Given the description of an element on the screen output the (x, y) to click on. 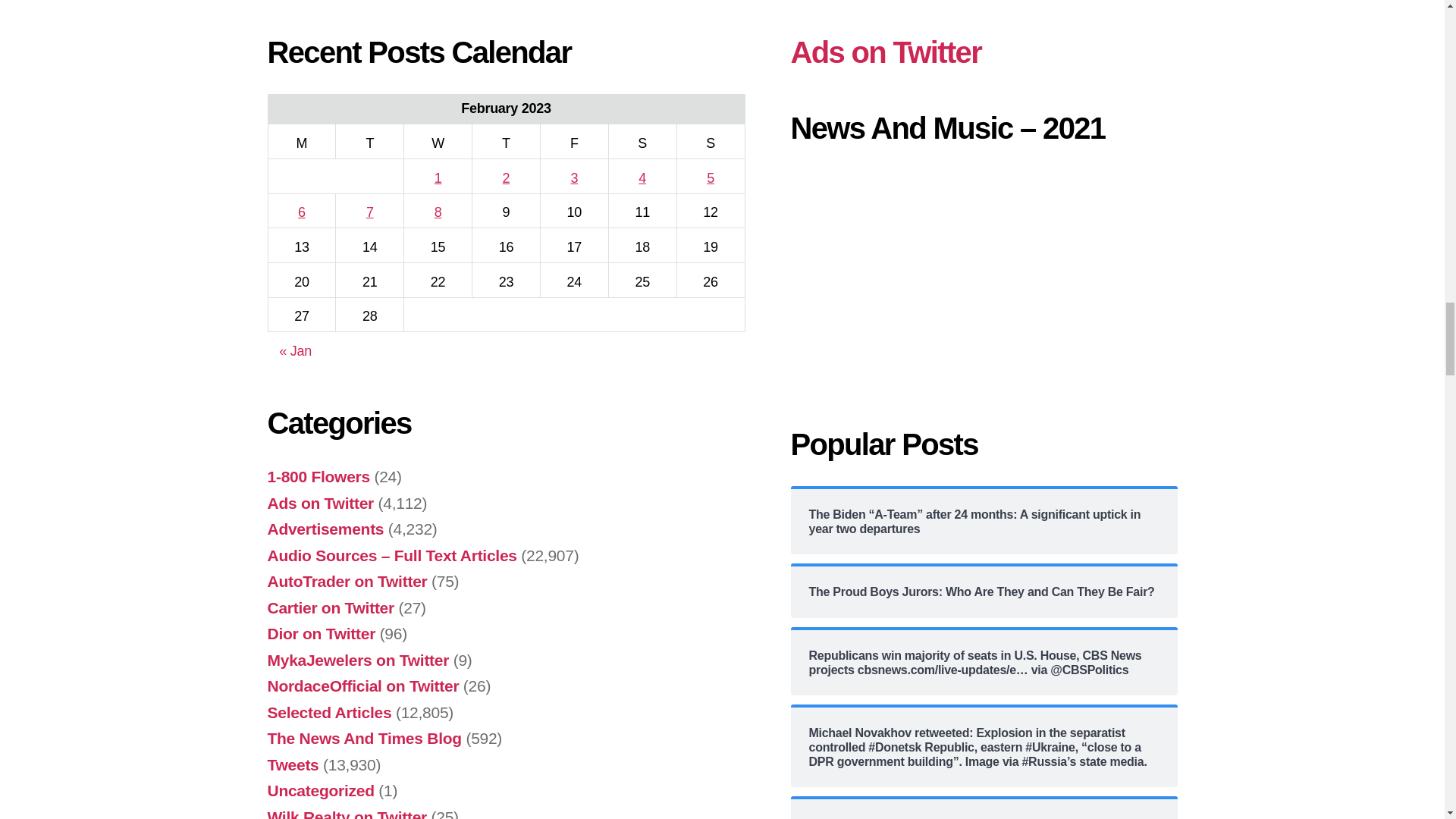
Thursday (505, 141)
Friday (574, 141)
Sunday (710, 141)
Tuesday (370, 141)
Monday (301, 141)
Wednesday (437, 141)
Saturday (642, 141)
